Given the description of an element on the screen output the (x, y) to click on. 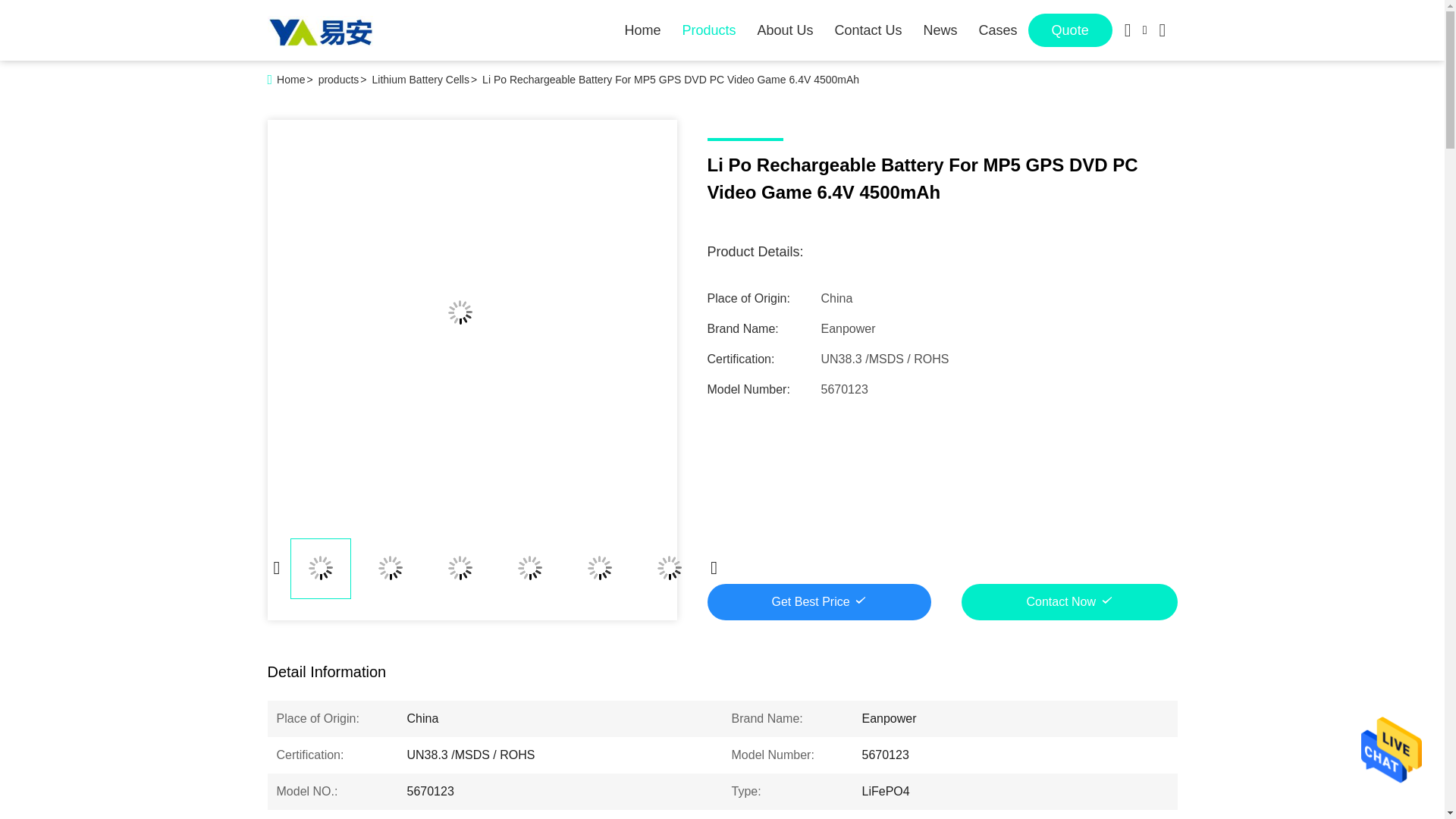
Products (708, 30)
Home (642, 30)
Cases (997, 30)
Products (708, 30)
Quote (1069, 29)
News (940, 30)
About Us (784, 30)
Shenzhen Eanpower Technology LTD (319, 30)
Contact Us (868, 30)
Home (642, 30)
About Us (784, 30)
